Given the description of an element on the screen output the (x, y) to click on. 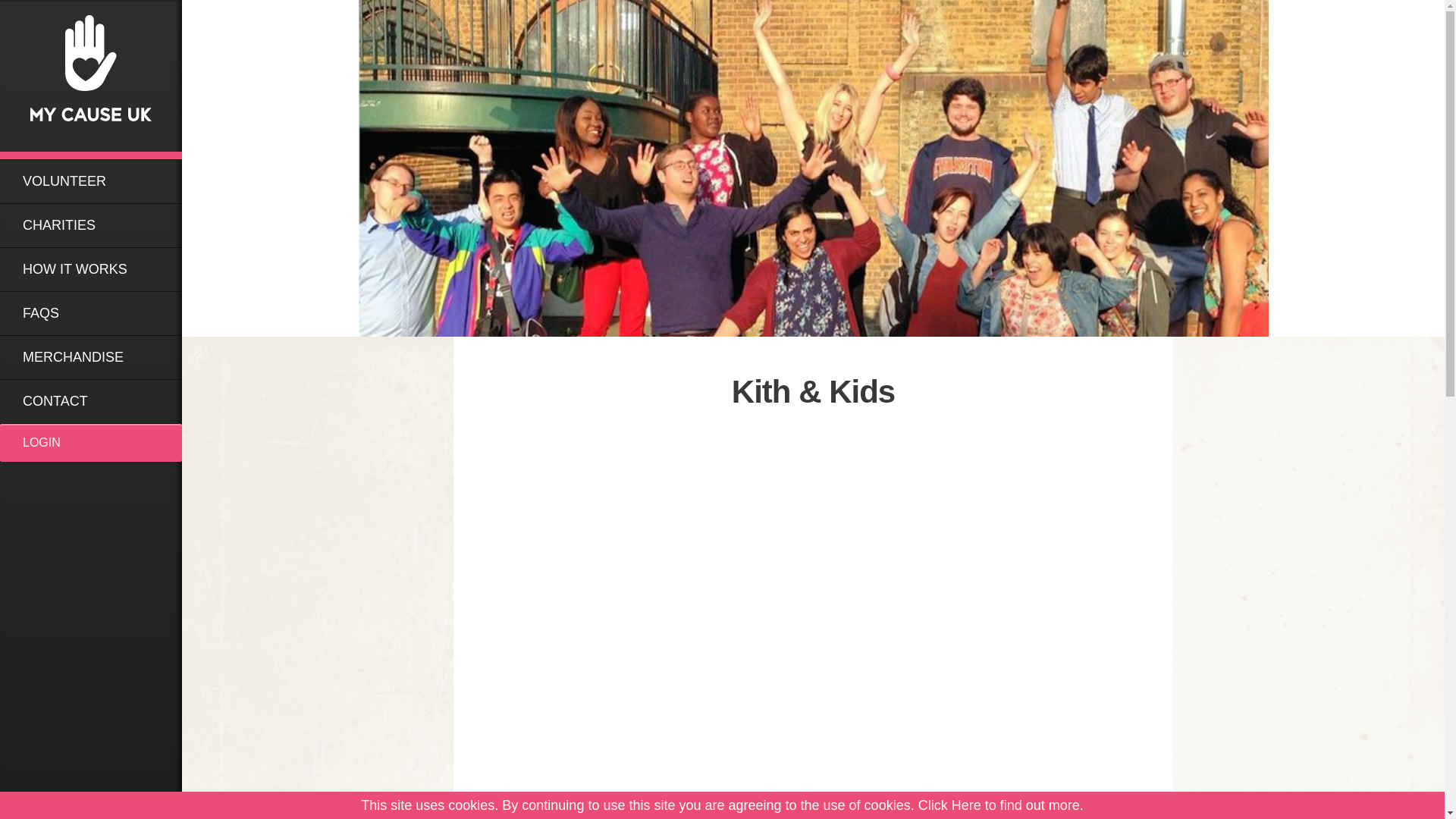
Click Here (949, 805)
HOW IT WORKS (91, 269)
VOLUNTEER (91, 181)
LOGIN (91, 442)
MERCHANDISE (91, 357)
FAQS (91, 312)
CHARITIES (91, 225)
My Cause UK (91, 79)
CONTACT (91, 401)
